Given the description of an element on the screen output the (x, y) to click on. 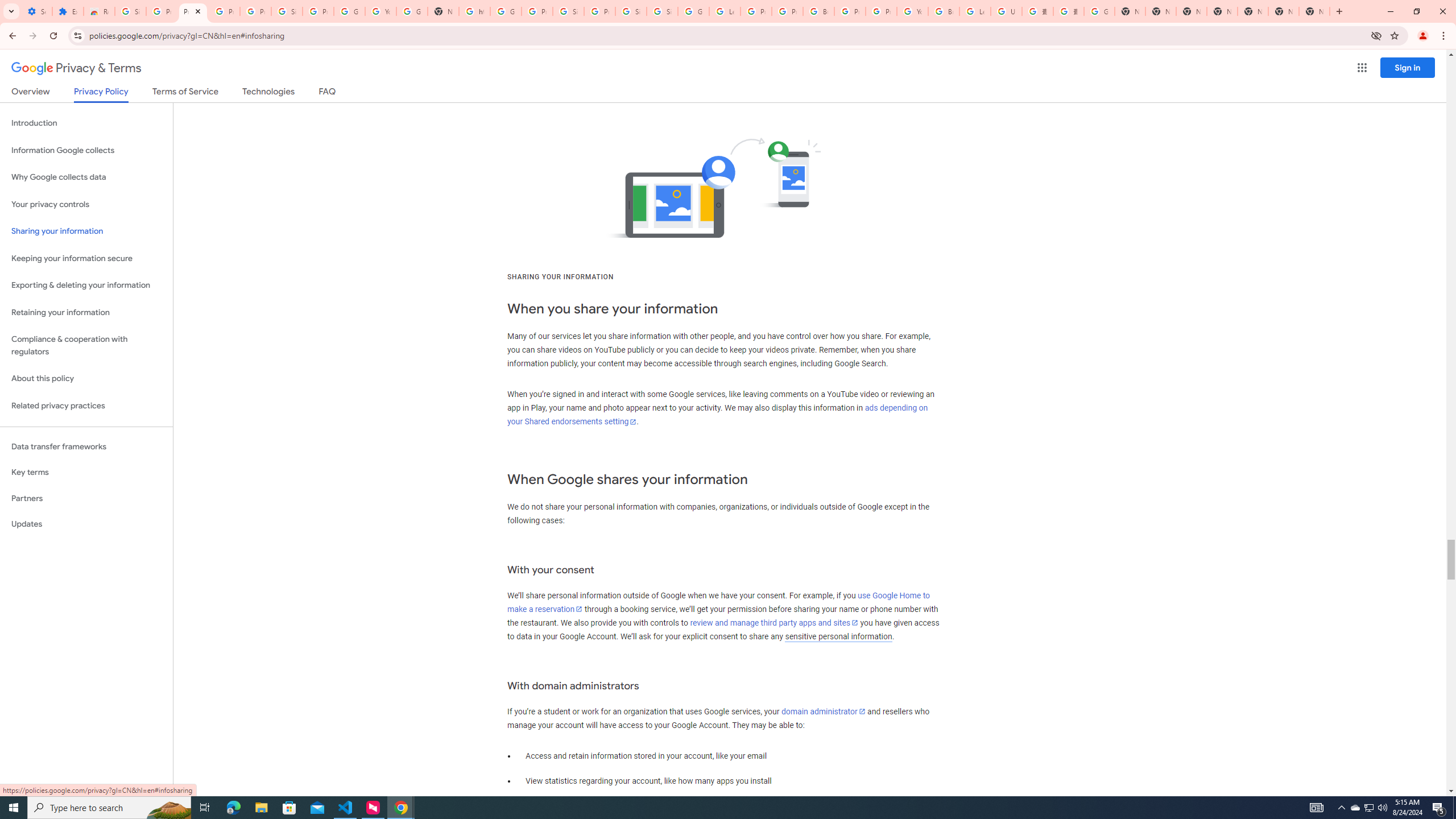
Privacy Help Center - Policies Help (787, 11)
Privacy Help Center - Policies Help (756, 11)
